Given the description of an element on the screen output the (x, y) to click on. 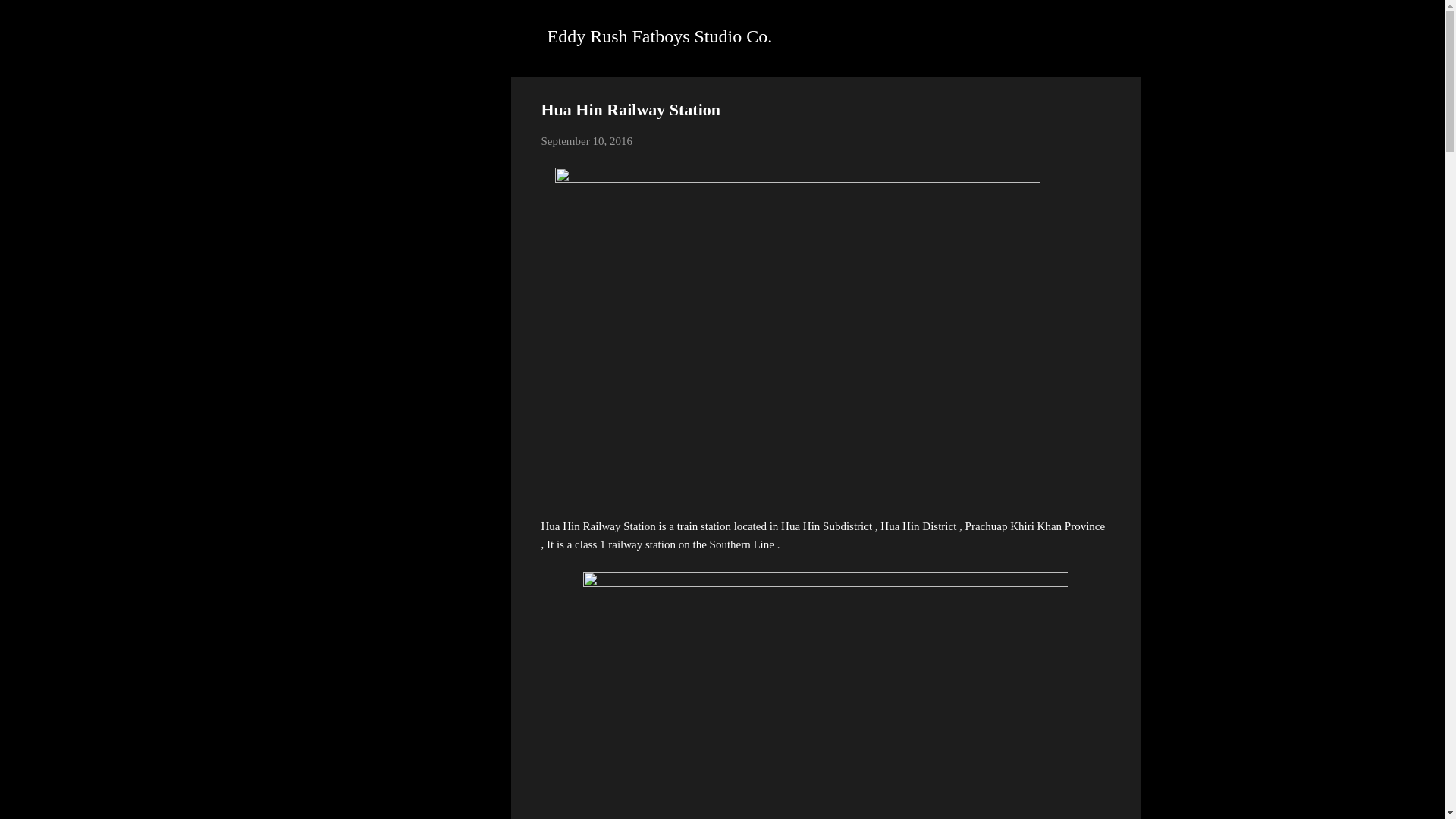
Search (29, 18)
permanent link (586, 141)
Eddy Rush Fatboys Studio Co. (660, 35)
September 10, 2016 (586, 141)
